Given the description of an element on the screen output the (x, y) to click on. 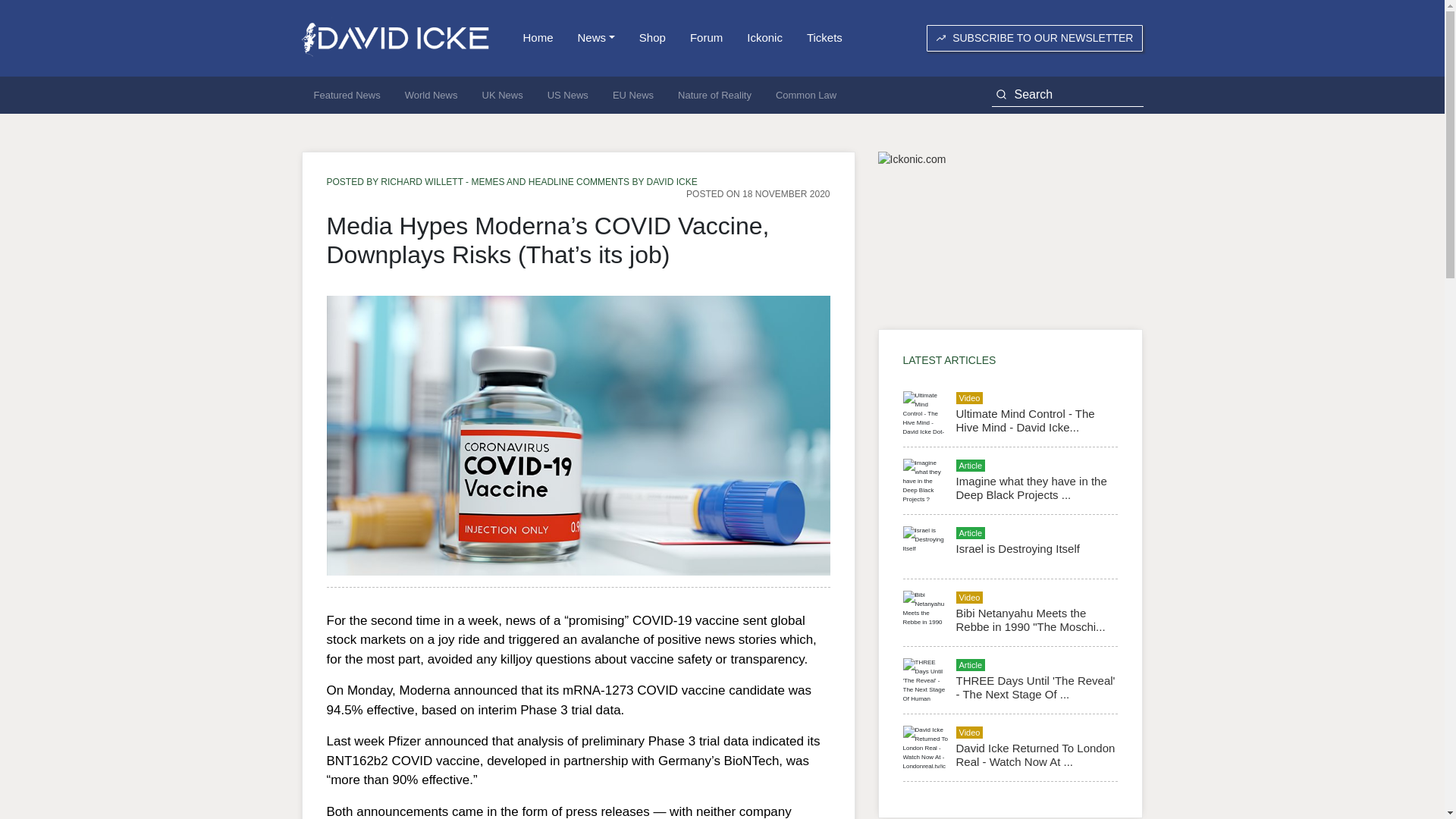
UK News (502, 94)
Ickonic (764, 37)
Israel is Destroying Itself (1016, 548)
EU News (632, 94)
News (596, 37)
Featured News (347, 94)
Nature of Reality (713, 94)
Tickets (824, 37)
